Given the description of an element on the screen output the (x, y) to click on. 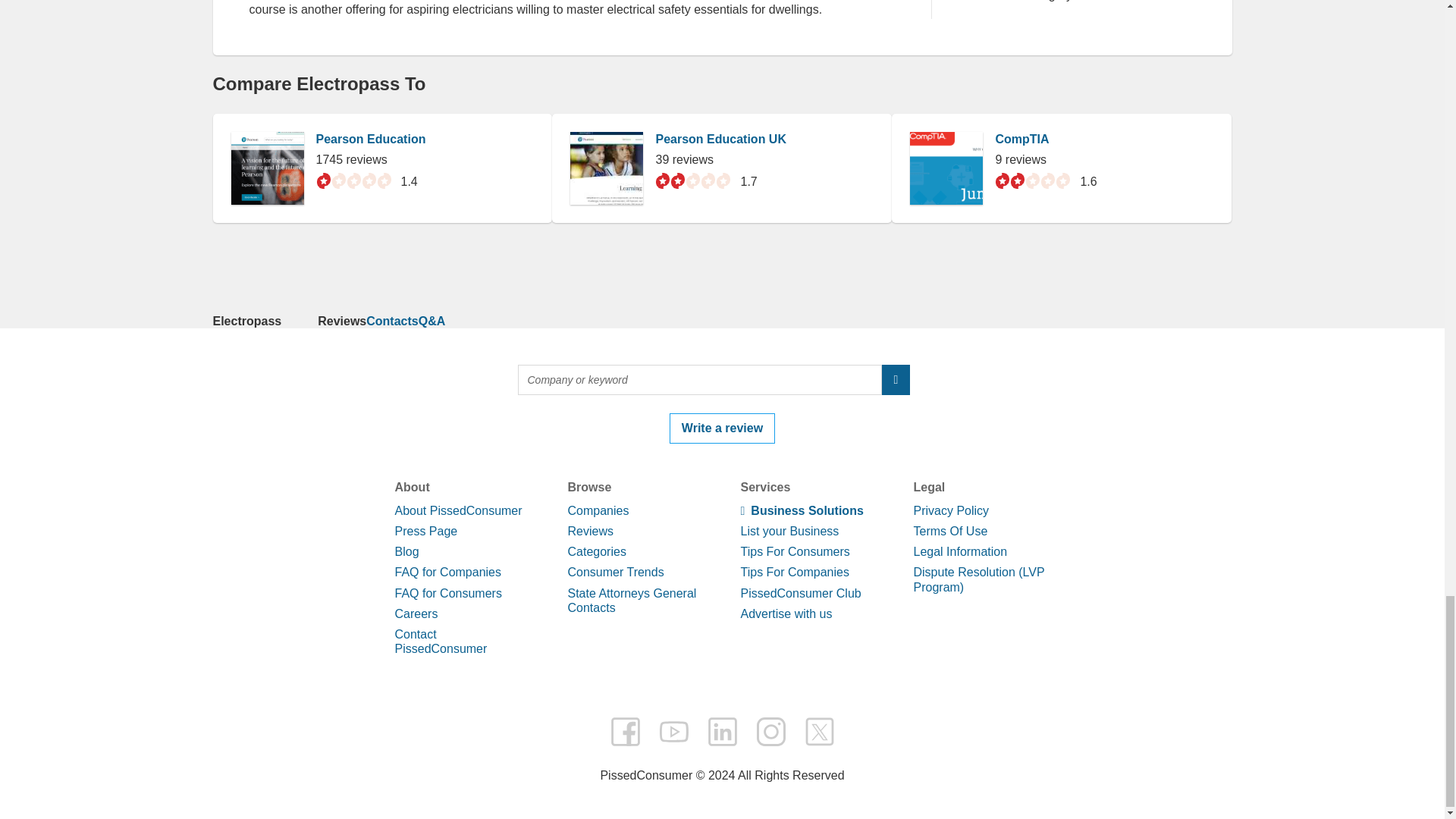
FAQ for Consumers (447, 592)
Terms Of Use (949, 530)
About PissedConsumer (457, 510)
Consumer Trends (615, 571)
Blog (406, 551)
Press Page (425, 530)
PissedConsumer Club (799, 592)
Tips For Companies (793, 571)
Tips For Consumers (793, 551)
Pearson Education UK (720, 138)
